Given the description of an element on the screen output the (x, y) to click on. 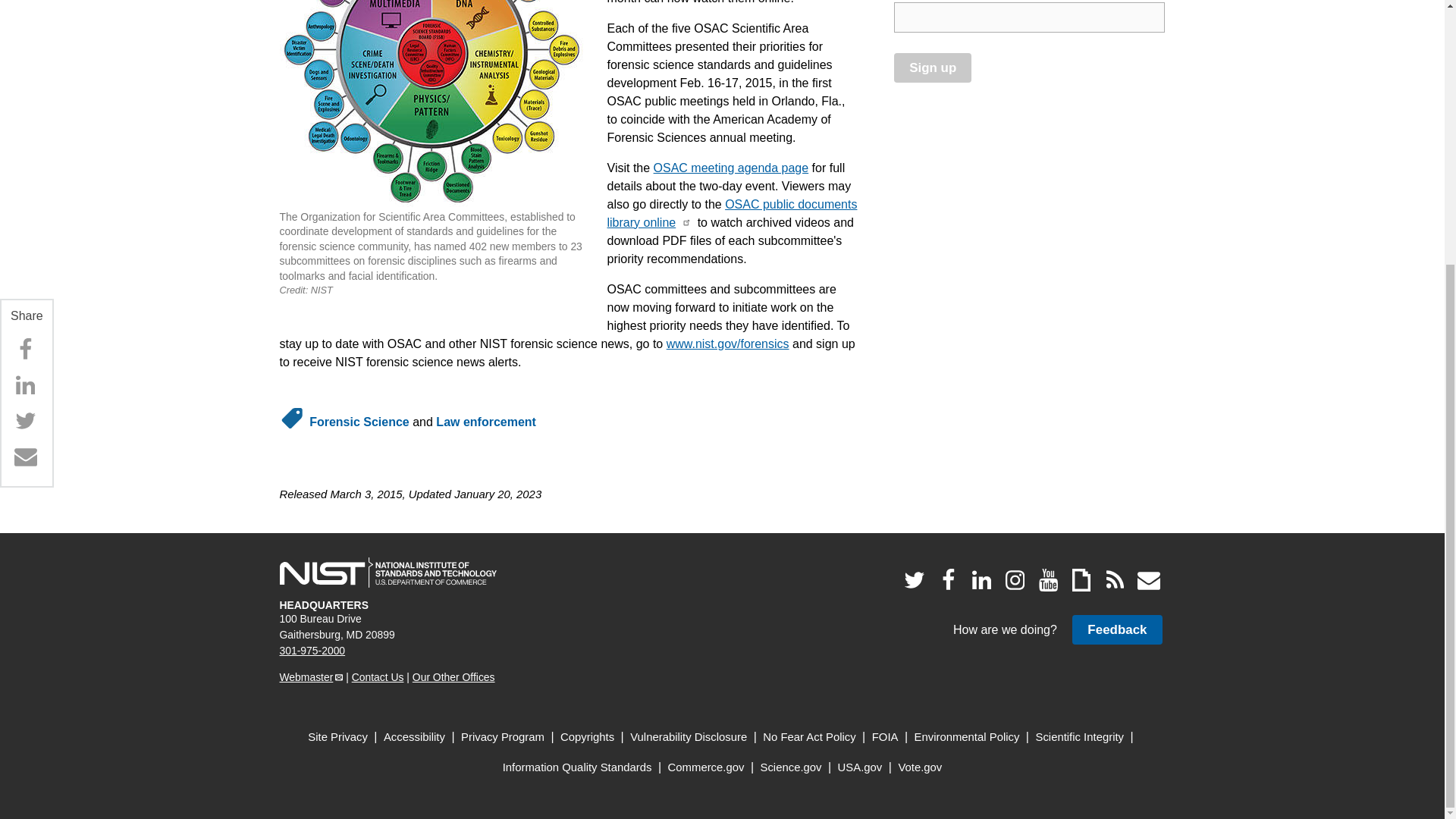
Contact Us (378, 676)
Sign up (932, 67)
301-975-2000 (312, 650)
Provide feedback (1116, 629)
Webmaster (310, 676)
email (1028, 17)
Linkedin (25, 9)
Twitter (25, 38)
National Institute of Standards and Technology (387, 572)
Email (25, 73)
